Given the description of an element on the screen output the (x, y) to click on. 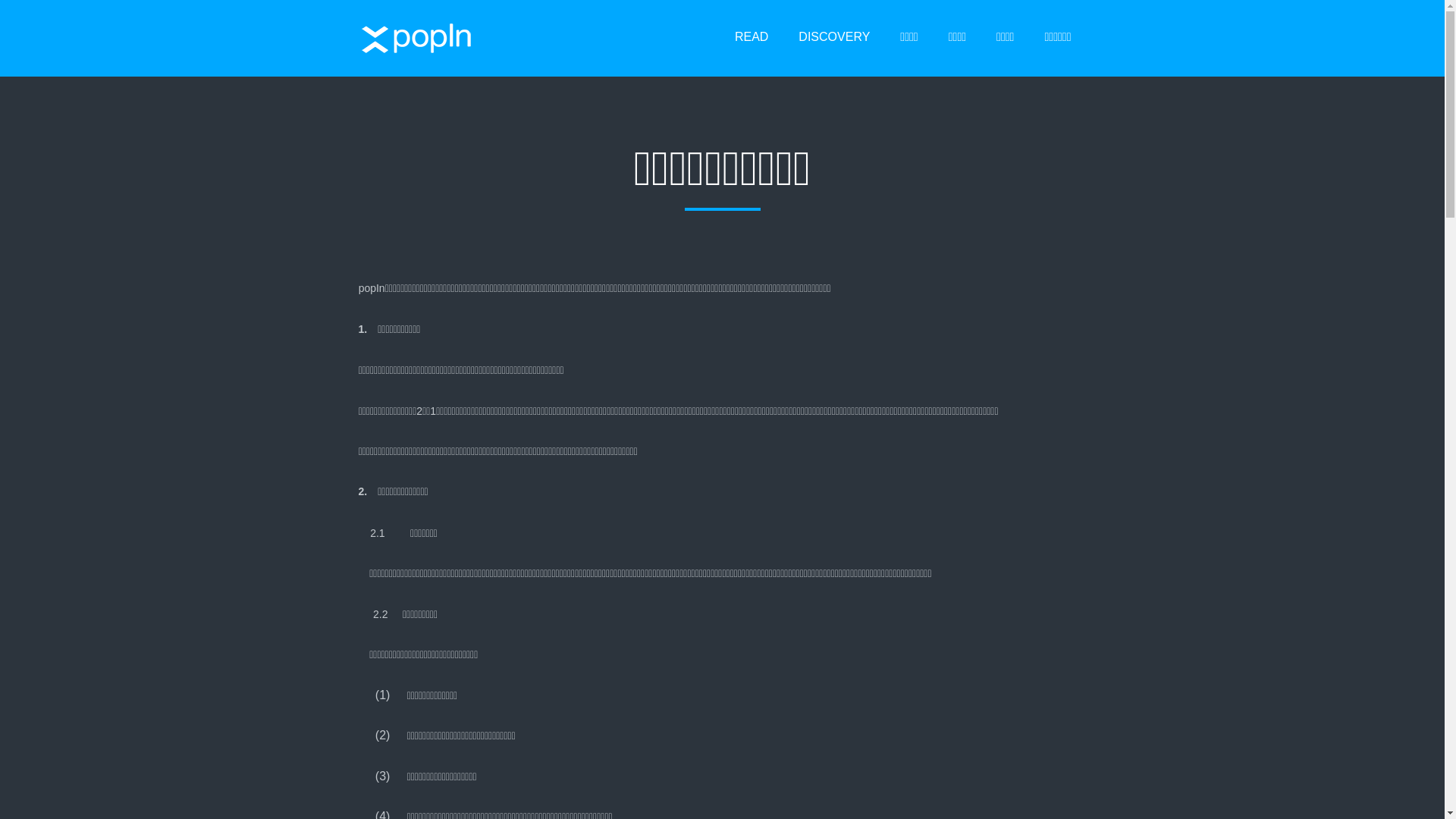
DISCOVERY Element type: text (833, 38)
READ Element type: text (751, 38)
